Given the description of an element on the screen output the (x, y) to click on. 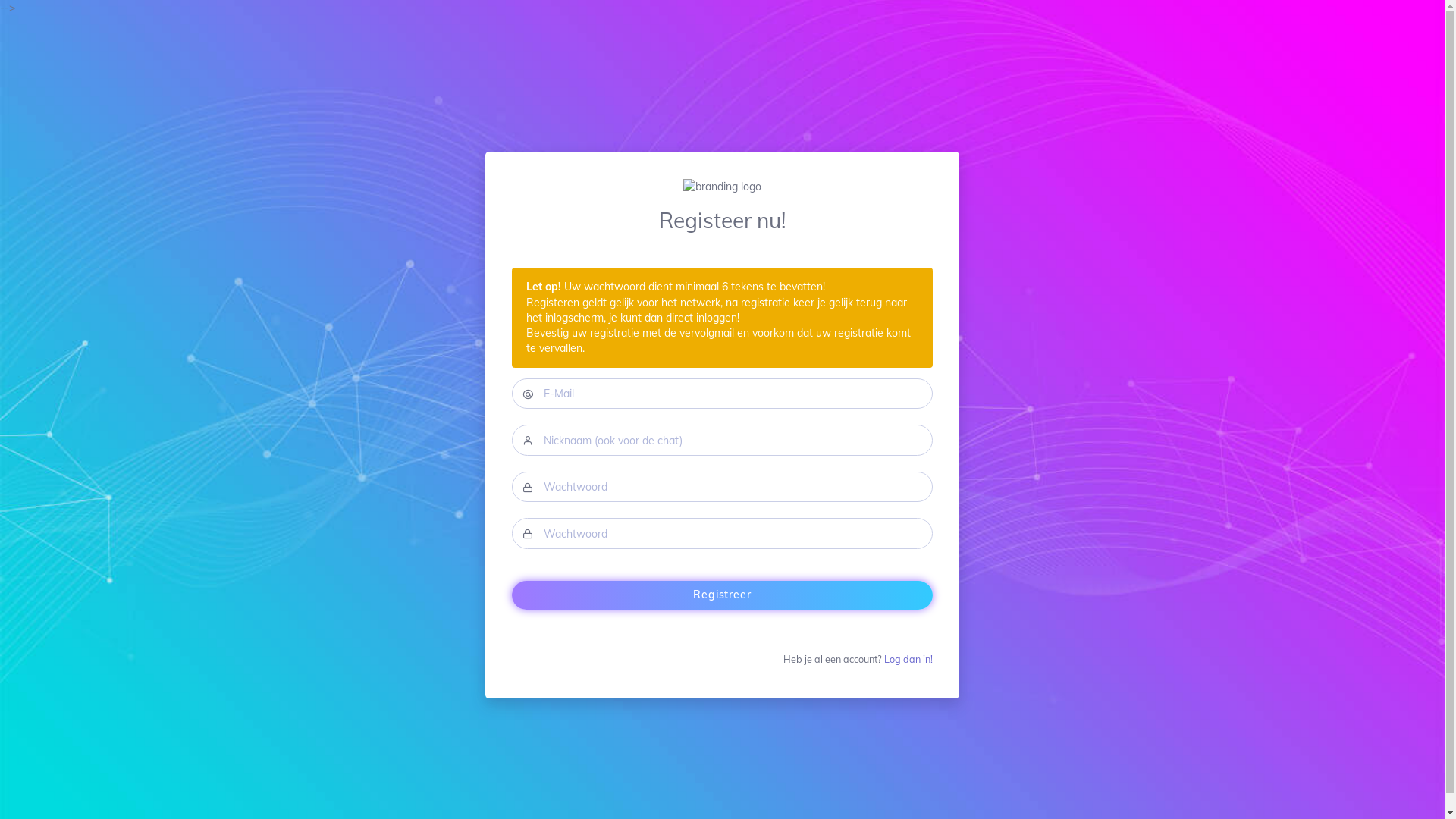
Registreer Element type: text (721, 595)
Log dan in! Element type: text (908, 658)
